Given the description of an element on the screen output the (x, y) to click on. 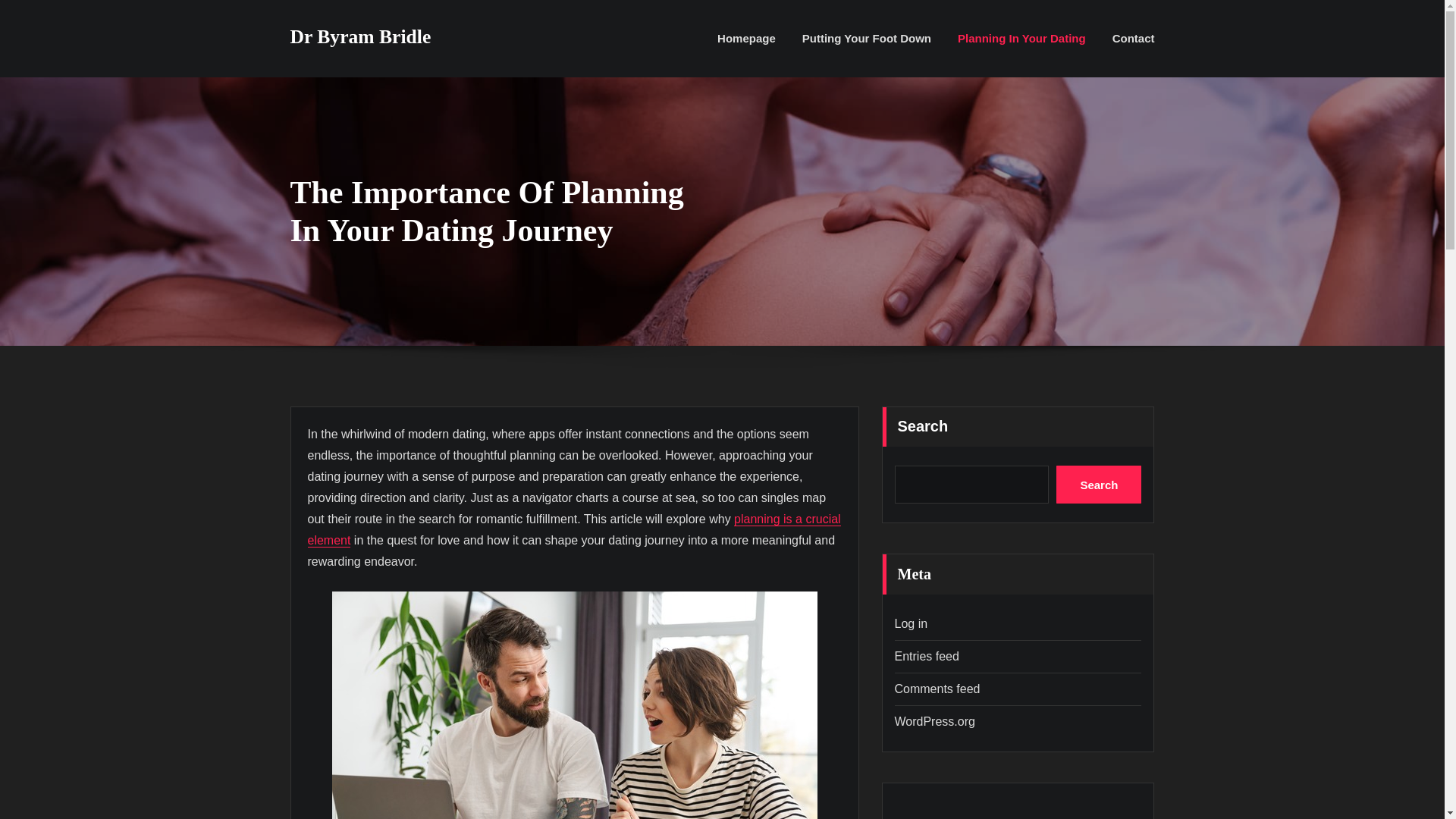
Planning In Your Dating (1022, 38)
Putting Your Foot Down (866, 38)
WordPress.org (935, 721)
Log in (911, 623)
Contact (1133, 38)
Entries feed (927, 656)
Dr Byram Bridle (359, 36)
Search (1099, 484)
What is a Tantric Escort? (1018, 800)
planning is a crucial element (574, 529)
Comments feed (937, 688)
Homepage (746, 38)
